Given the description of an element on the screen output the (x, y) to click on. 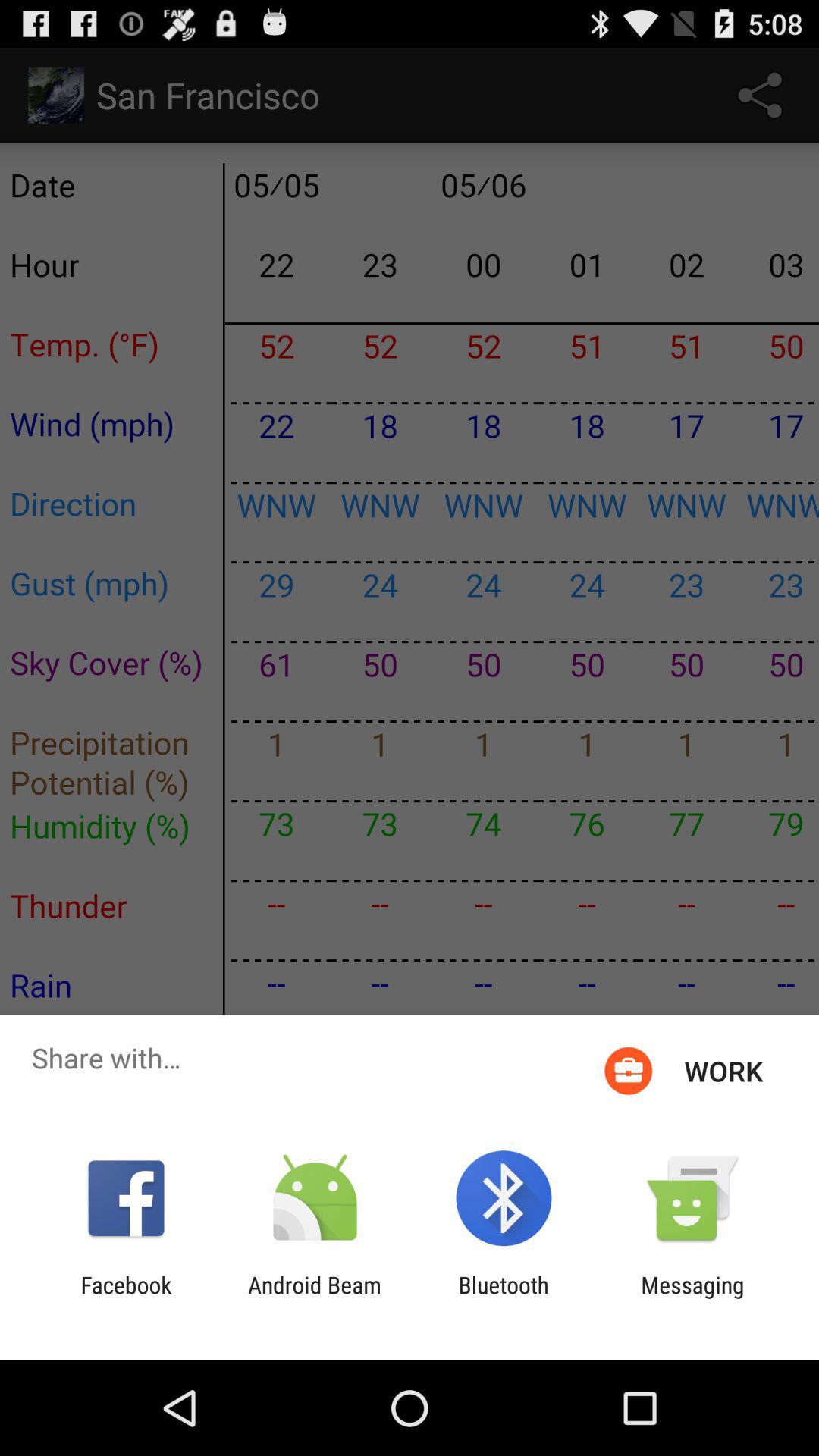
click the icon to the right of bluetooth app (692, 1298)
